Given the description of an element on the screen output the (x, y) to click on. 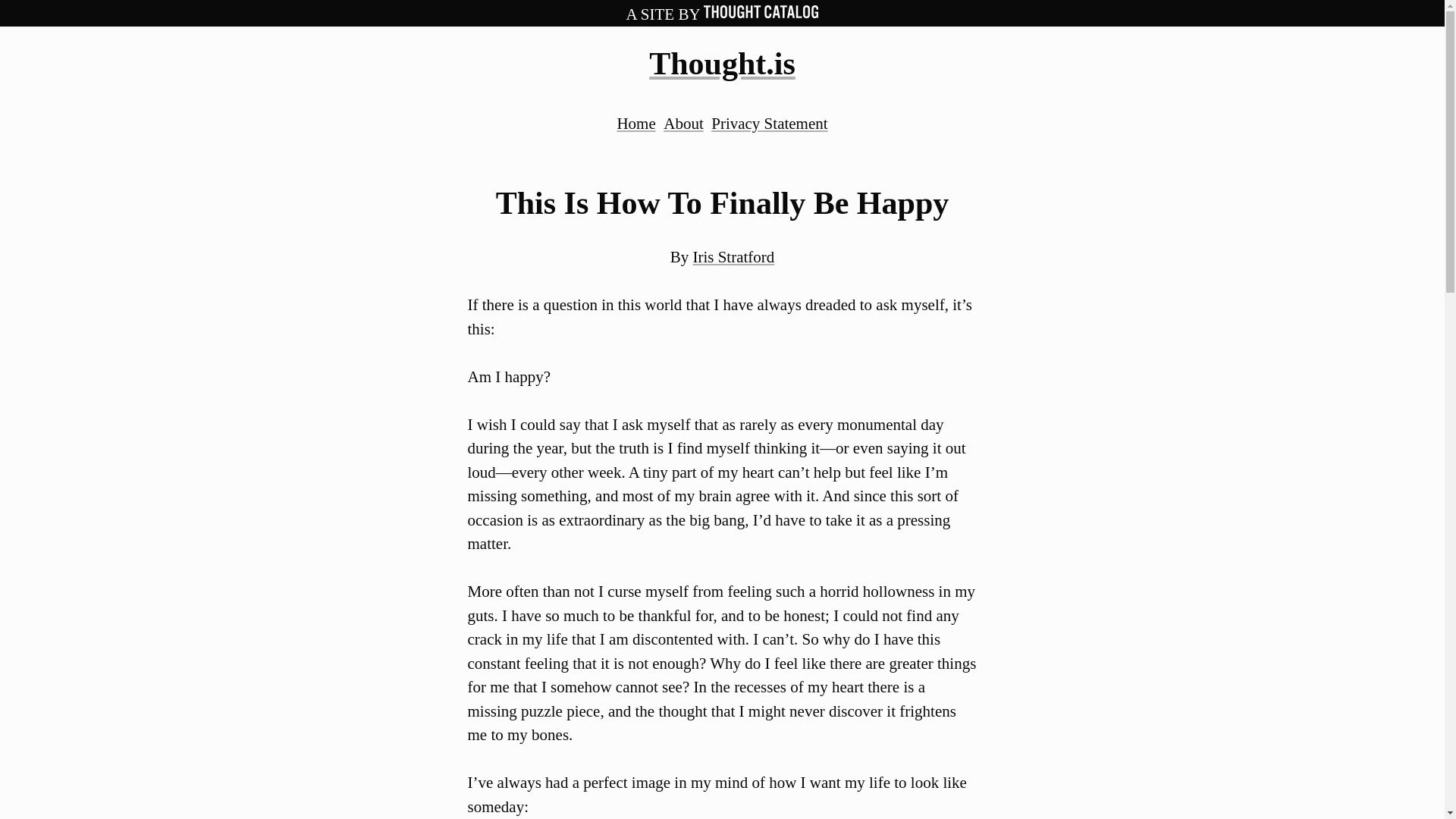
THOUGHT CATALOG (760, 11)
Home (635, 123)
THOUGHT CATALOG (760, 13)
Iris Stratford (733, 257)
Privacy Statement (769, 123)
About (683, 123)
Thought.is (721, 63)
Posts by Iris Stratford (733, 257)
